Given the description of an element on the screen output the (x, y) to click on. 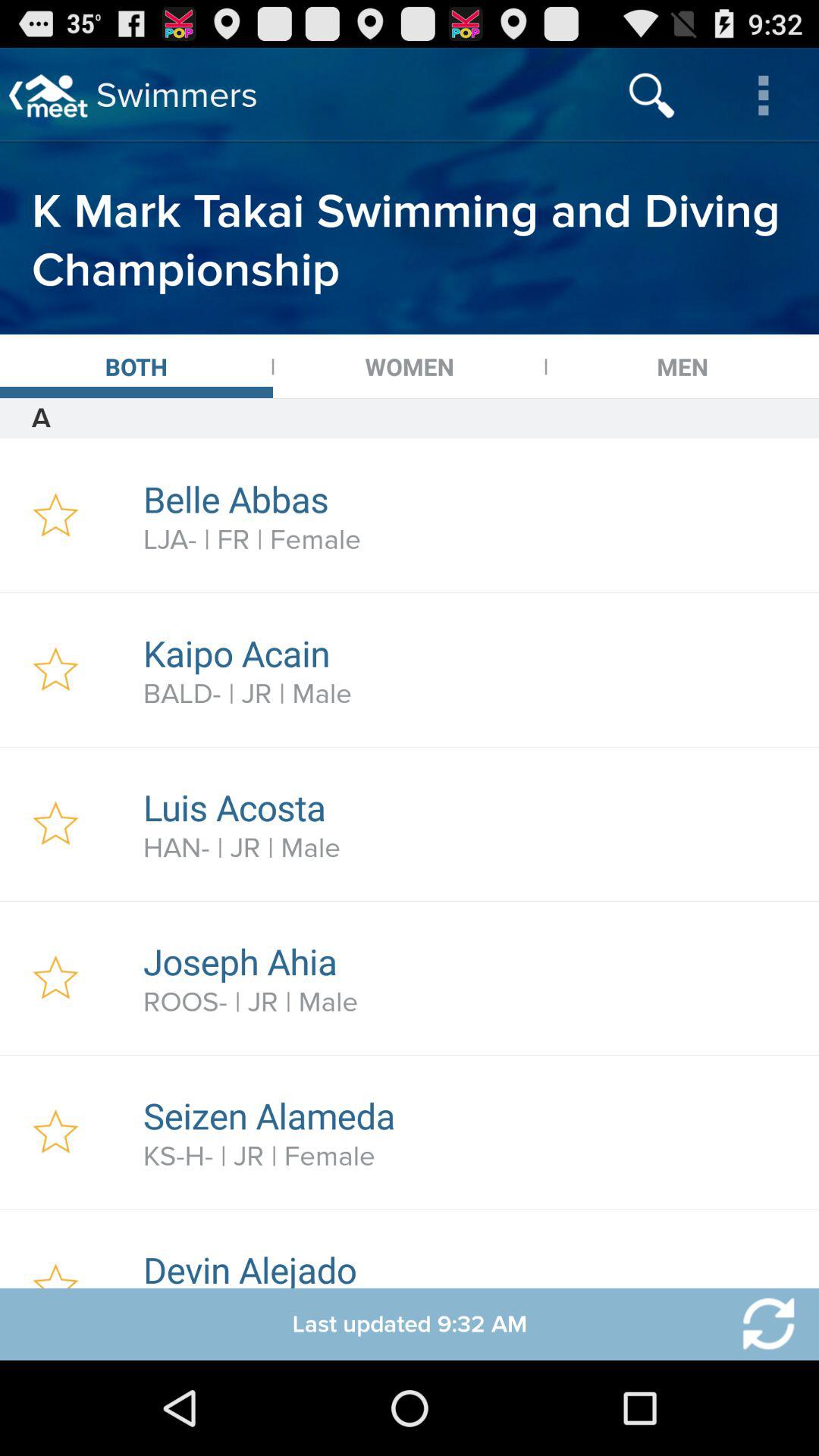
select the icon above a icon (136, 366)
